Given the description of an element on the screen output the (x, y) to click on. 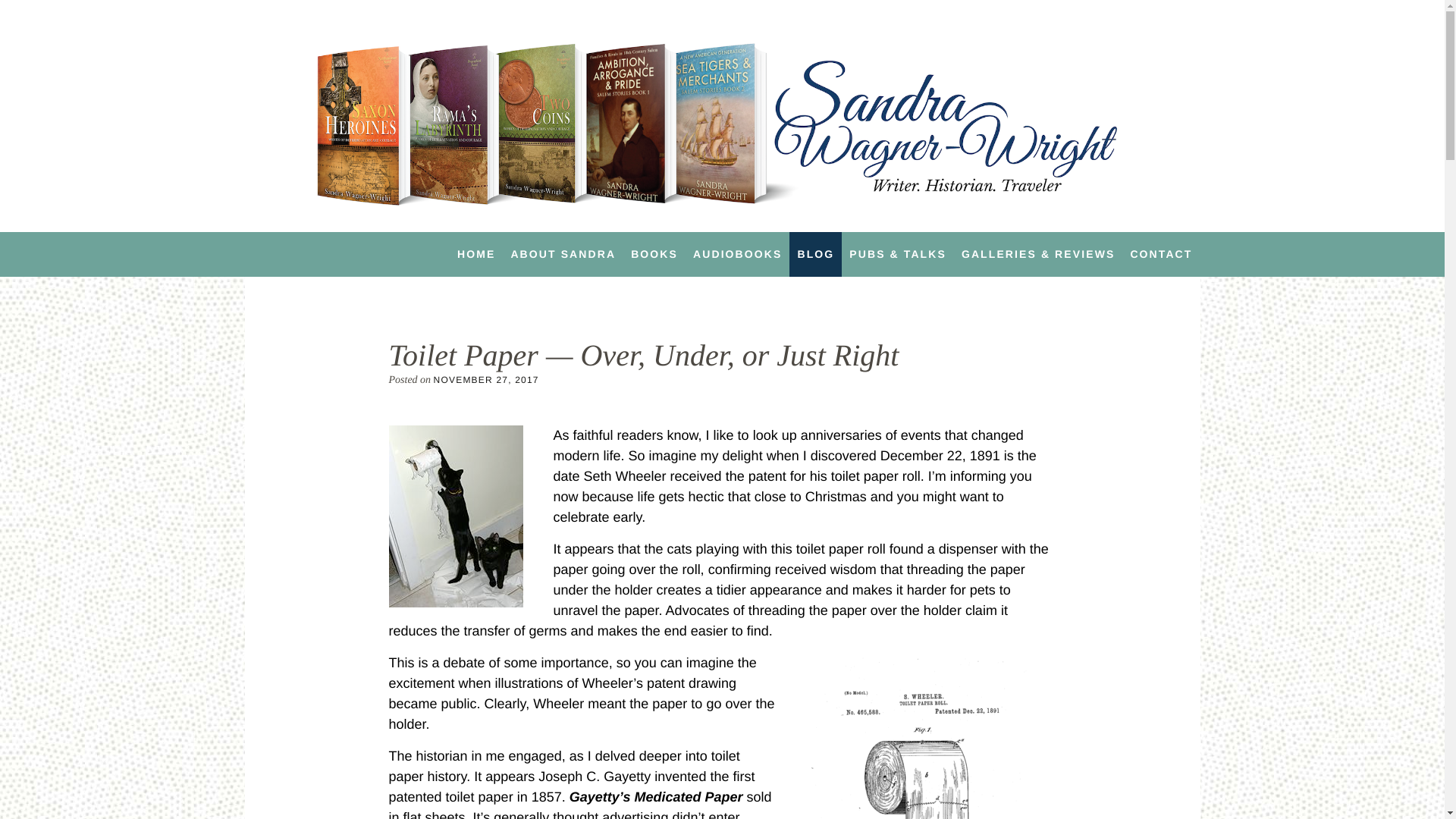
BLOG (815, 253)
CONTACT (1160, 253)
ABOUT SANDRA (562, 253)
HOME (475, 253)
AUDIOBOOKS (737, 253)
BOOKS (654, 253)
